Given the description of an element on the screen output the (x, y) to click on. 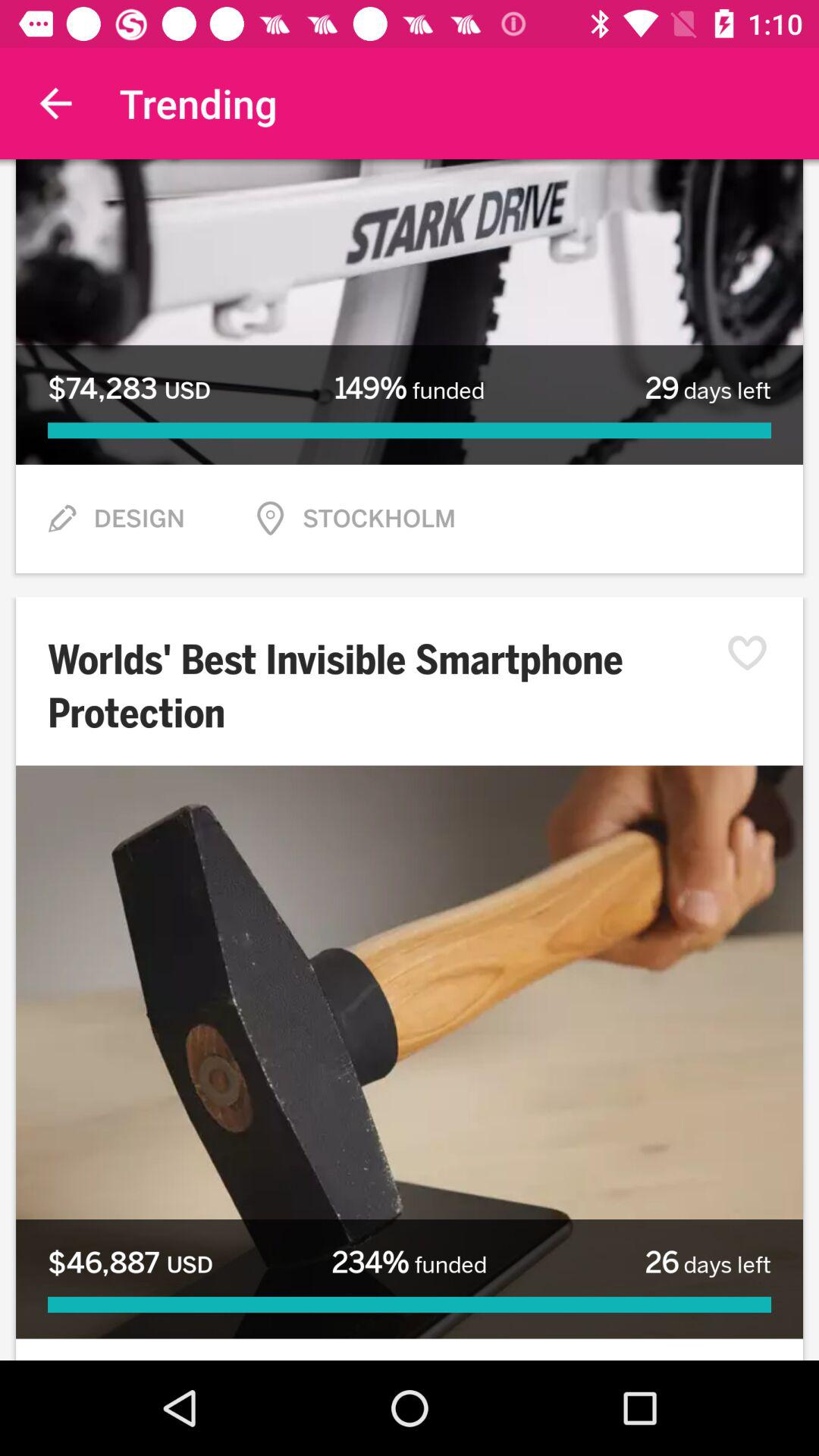
turn on stockholm item (379, 518)
